Given the description of an element on the screen output the (x, y) to click on. 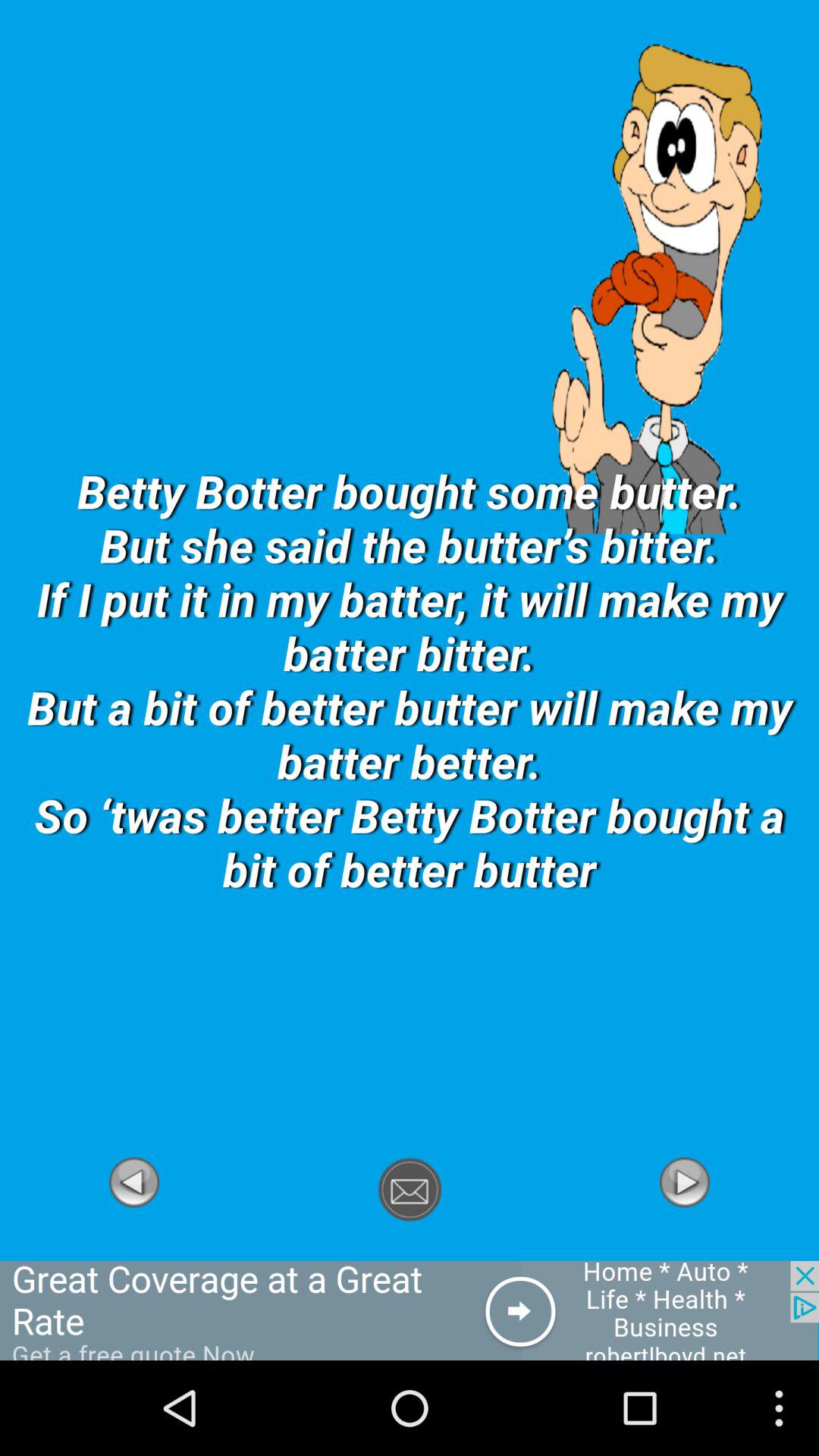
add banner (409, 1310)
